Given the description of an element on the screen output the (x, y) to click on. 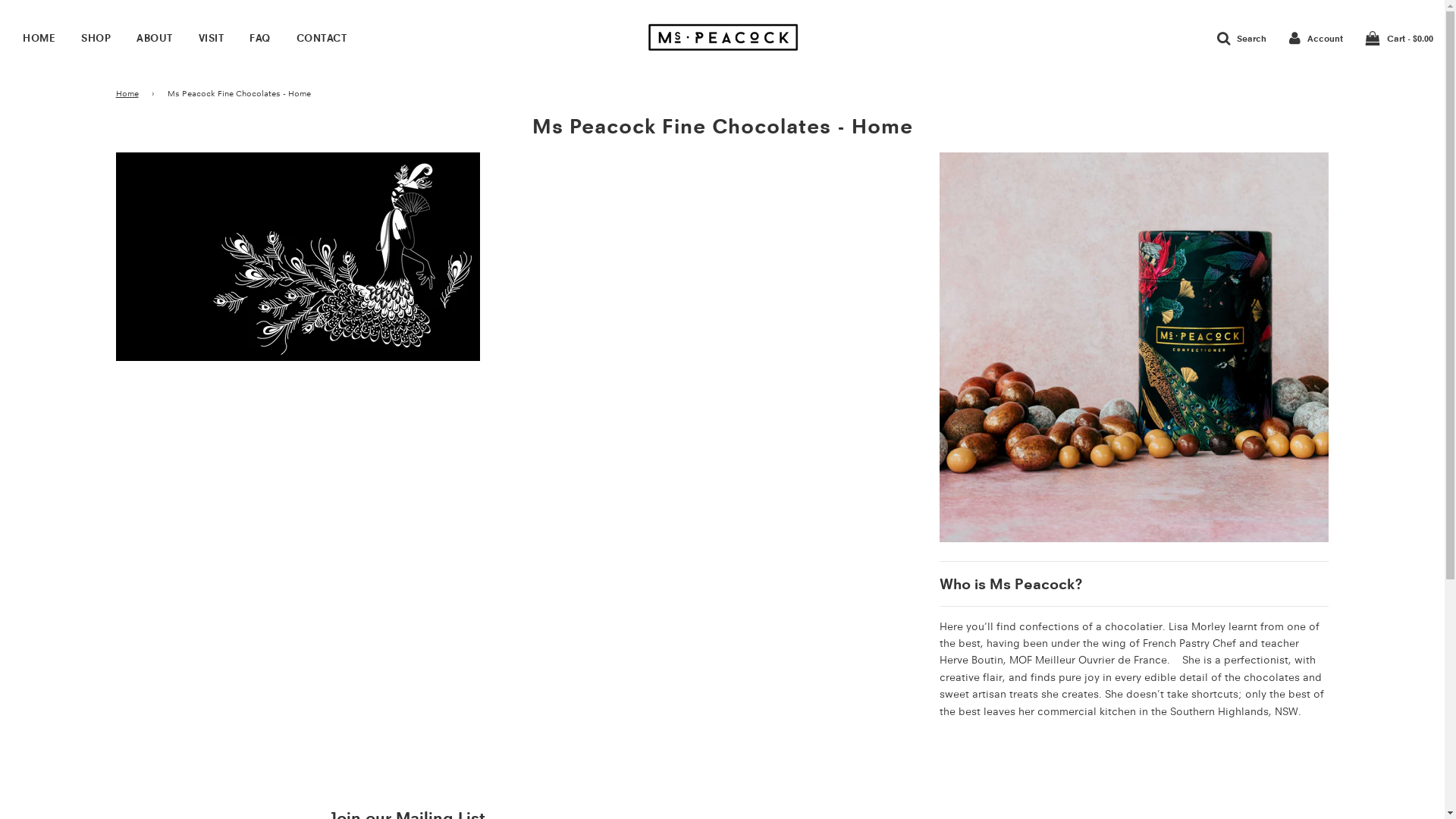
VISIT Element type: text (210, 37)
Search Element type: text (1241, 36)
Account Element type: text (1316, 36)
SHOP Element type: text (95, 37)
Cart - $0.00 Element type: text (1399, 36)
Home Element type: text (129, 93)
HOME Element type: text (38, 37)
FAQ Element type: text (260, 37)
CONTACT Element type: text (321, 37)
ABOUT Element type: text (154, 37)
